Given the description of an element on the screen output the (x, y) to click on. 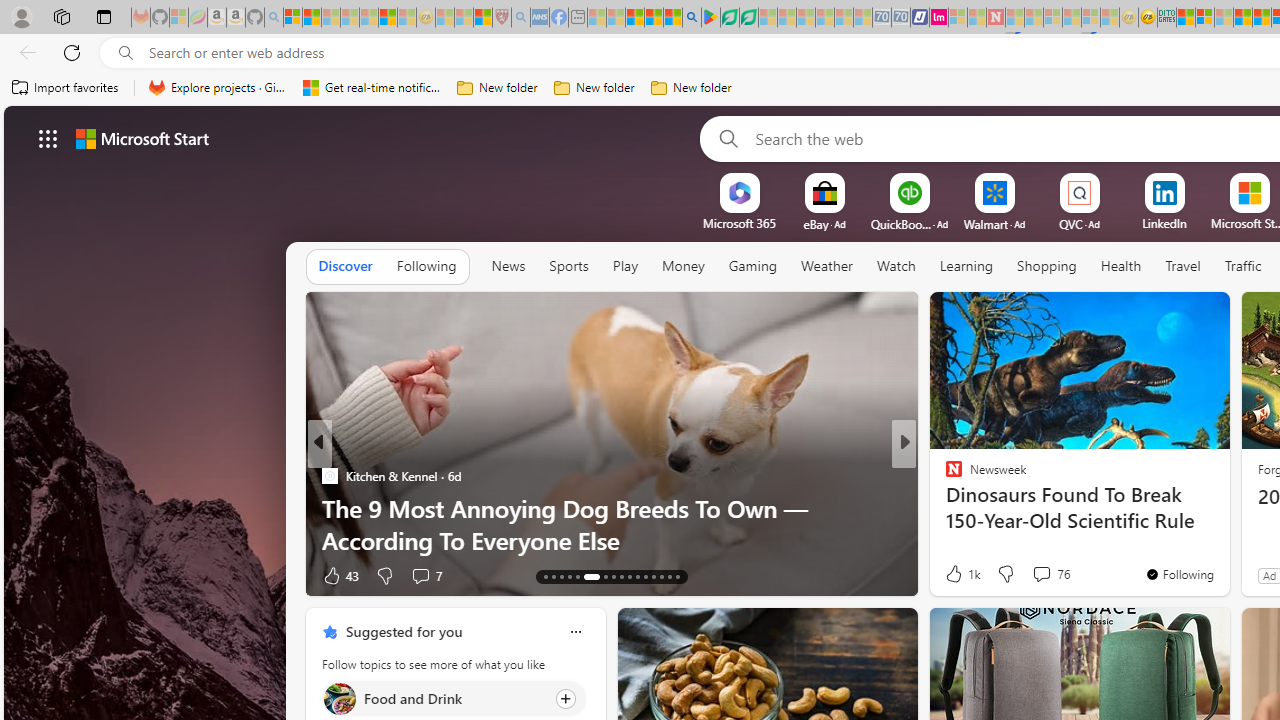
AutomationID: tab-38 (669, 576)
88 Like (956, 574)
85 Like (956, 574)
INSIDER (944, 475)
View comments 37 Comment (419, 575)
New folder (691, 88)
AutomationID: tab-17 (577, 576)
View comments 3 Comment (1041, 574)
Pets - MSN (654, 17)
51 Like (956, 574)
AutomationID: tab-13 (545, 576)
